Given the description of an element on the screen output the (x, y) to click on. 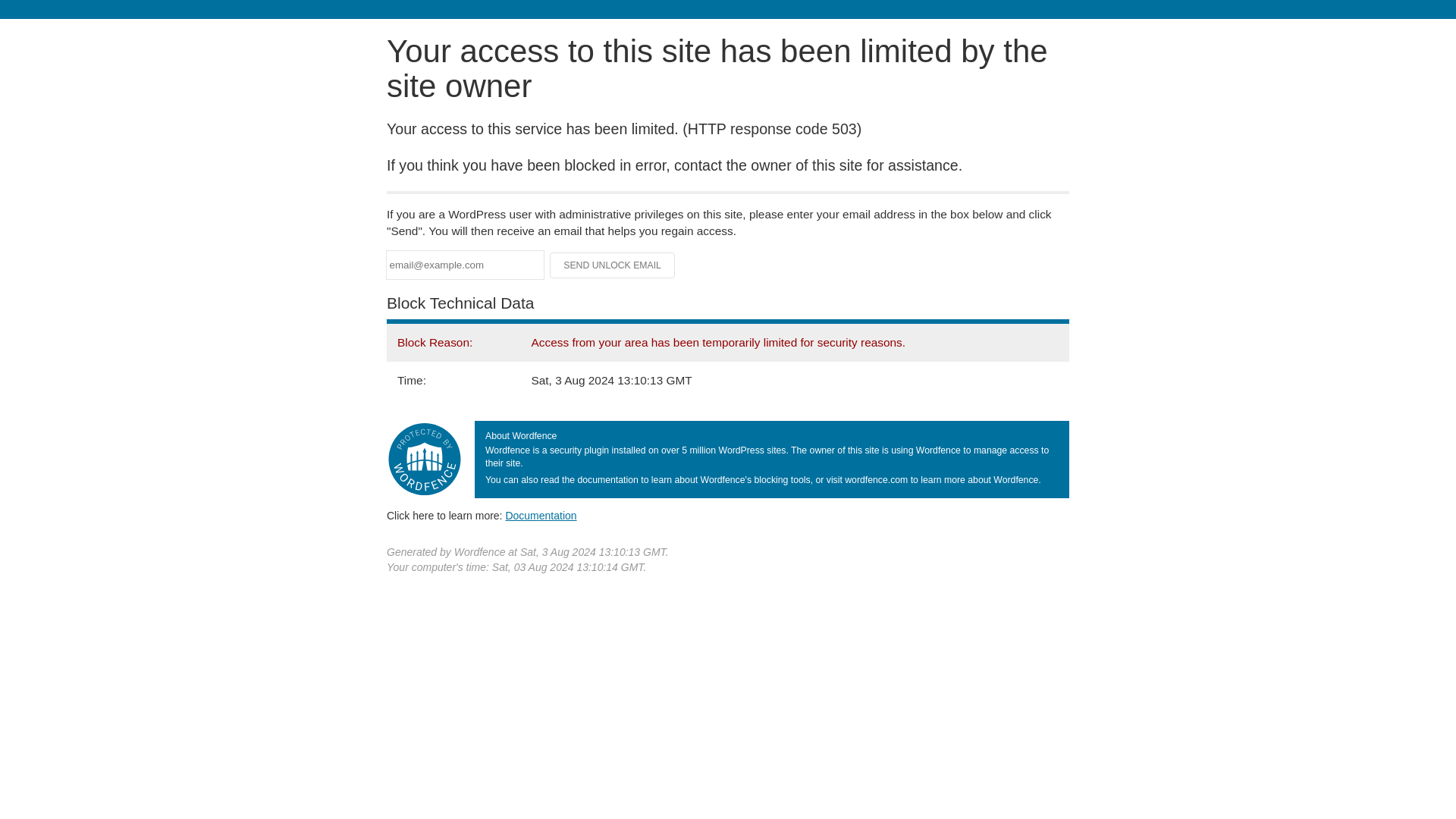
Documentation (540, 515)
Send Unlock Email (612, 265)
Send Unlock Email (612, 265)
